Given the description of an element on the screen output the (x, y) to click on. 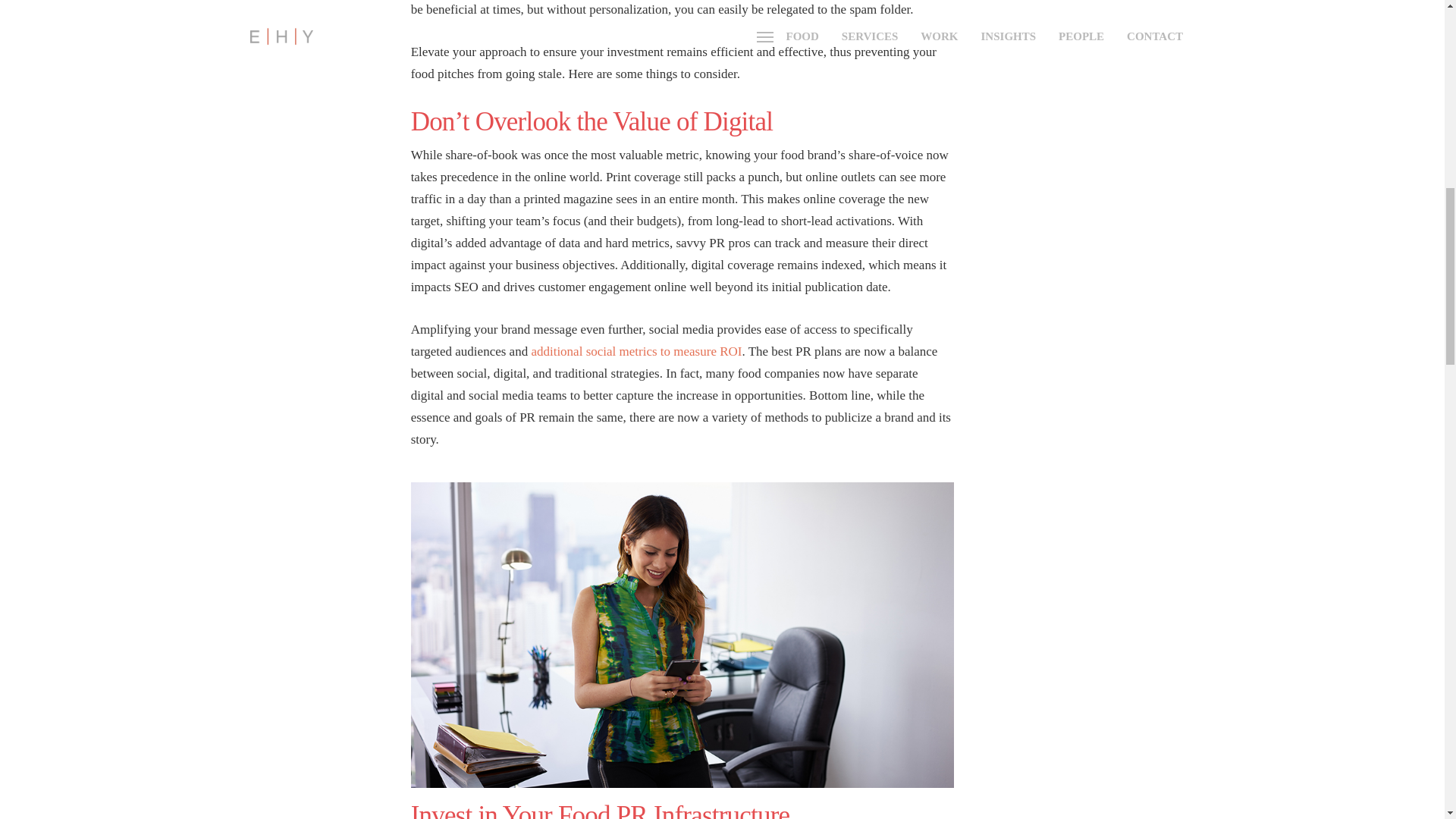
additional social metrics to measure ROI (636, 350)
